Given the description of an element on the screen output the (x, y) to click on. 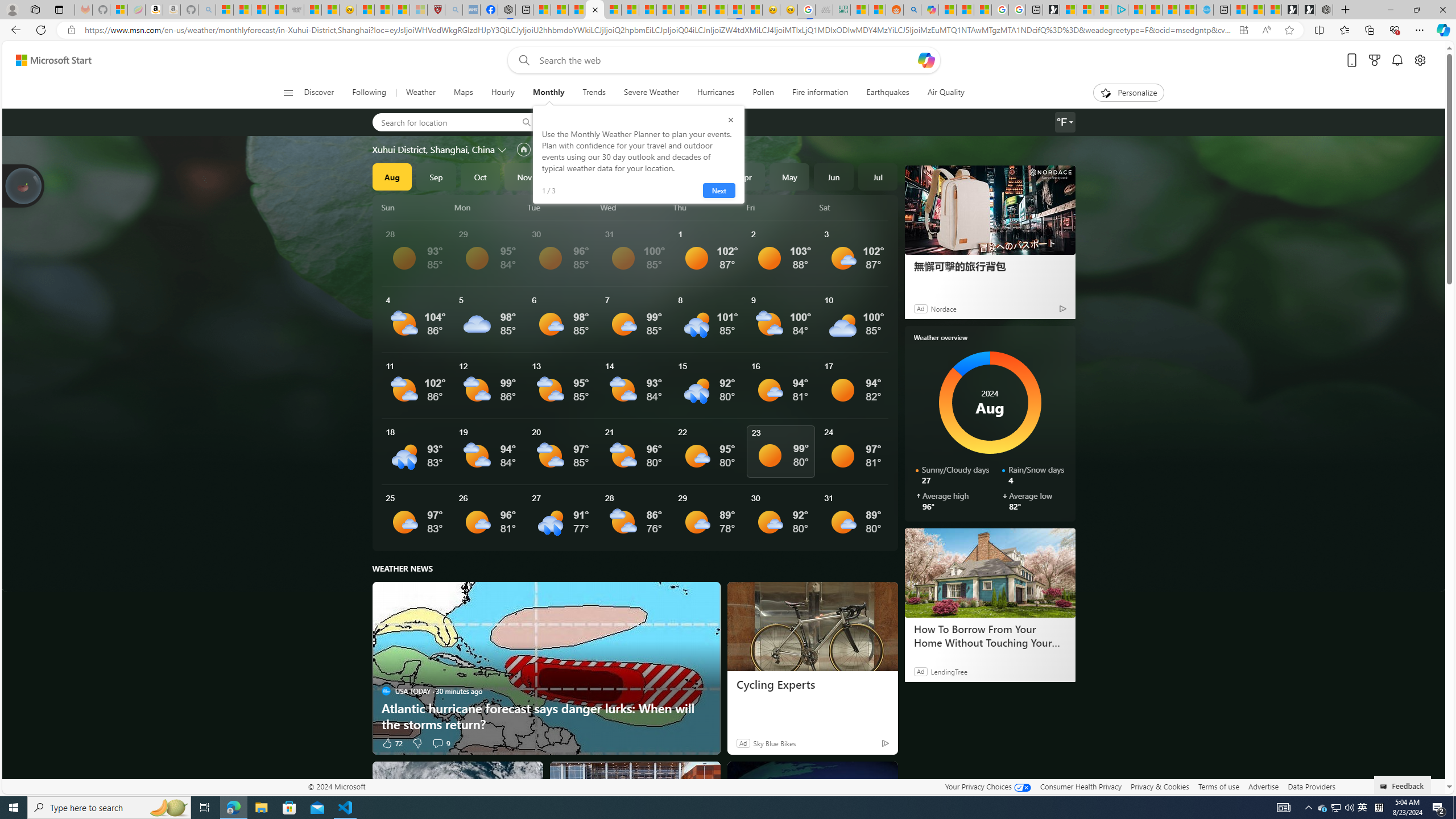
Your Privacy Choices (987, 785)
Sun (416, 207)
Air Quality (940, 92)
12 Popular Science Lies that Must be Corrected - Sleeping (418, 9)
View comments 9 Comment (440, 742)
Recipes - MSN (366, 9)
